Given the description of an element on the screen output the (x, y) to click on. 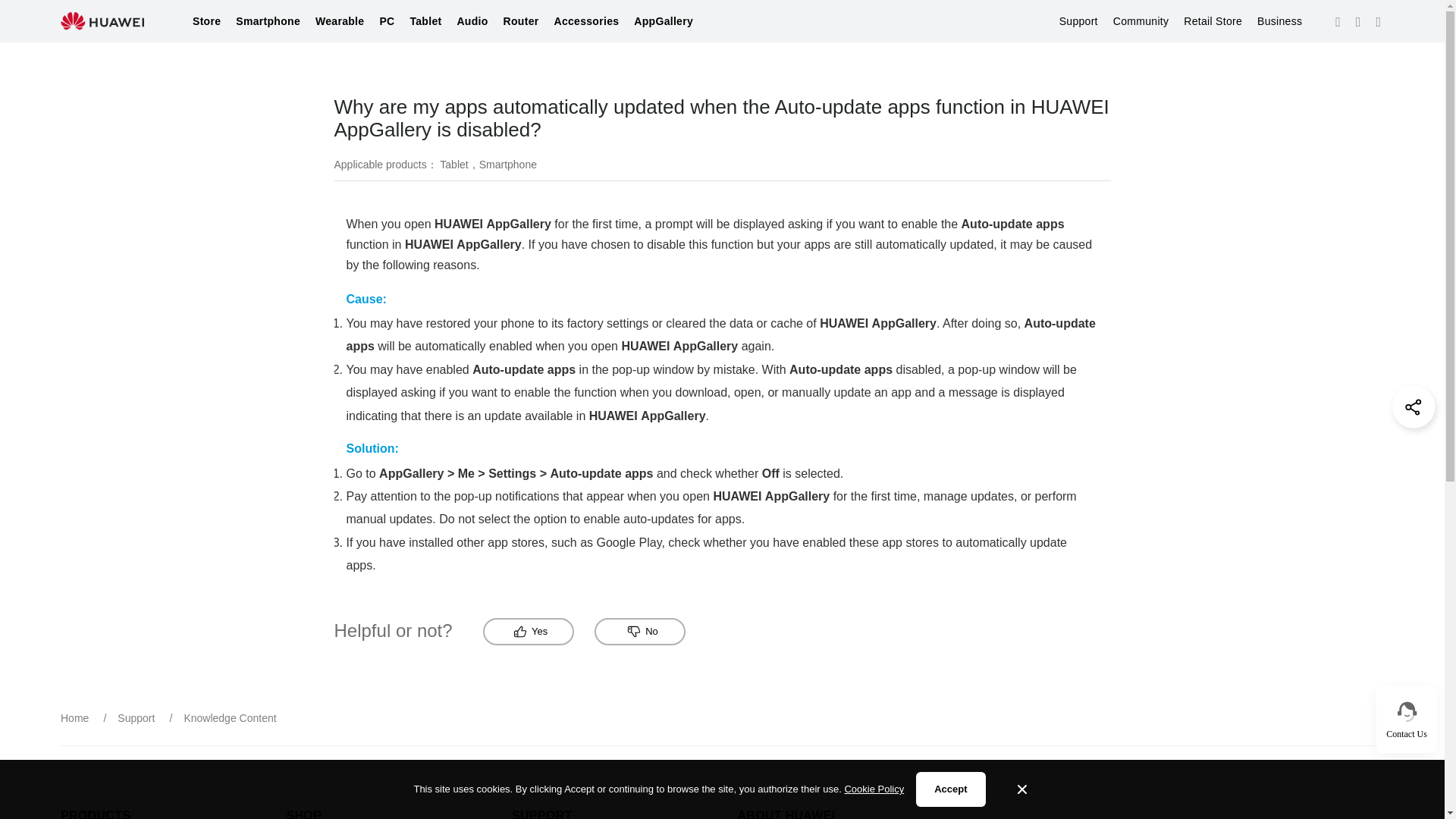
Cookie Policy (874, 788)
Support (1078, 21)
Community (1141, 21)
Retail Store (1212, 21)
AppGallery (663, 21)
Support (1078, 21)
Smartphone (267, 21)
Accessories (587, 21)
AppGallery (663, 21)
Business (1279, 21)
